Given the description of an element on the screen output the (x, y) to click on. 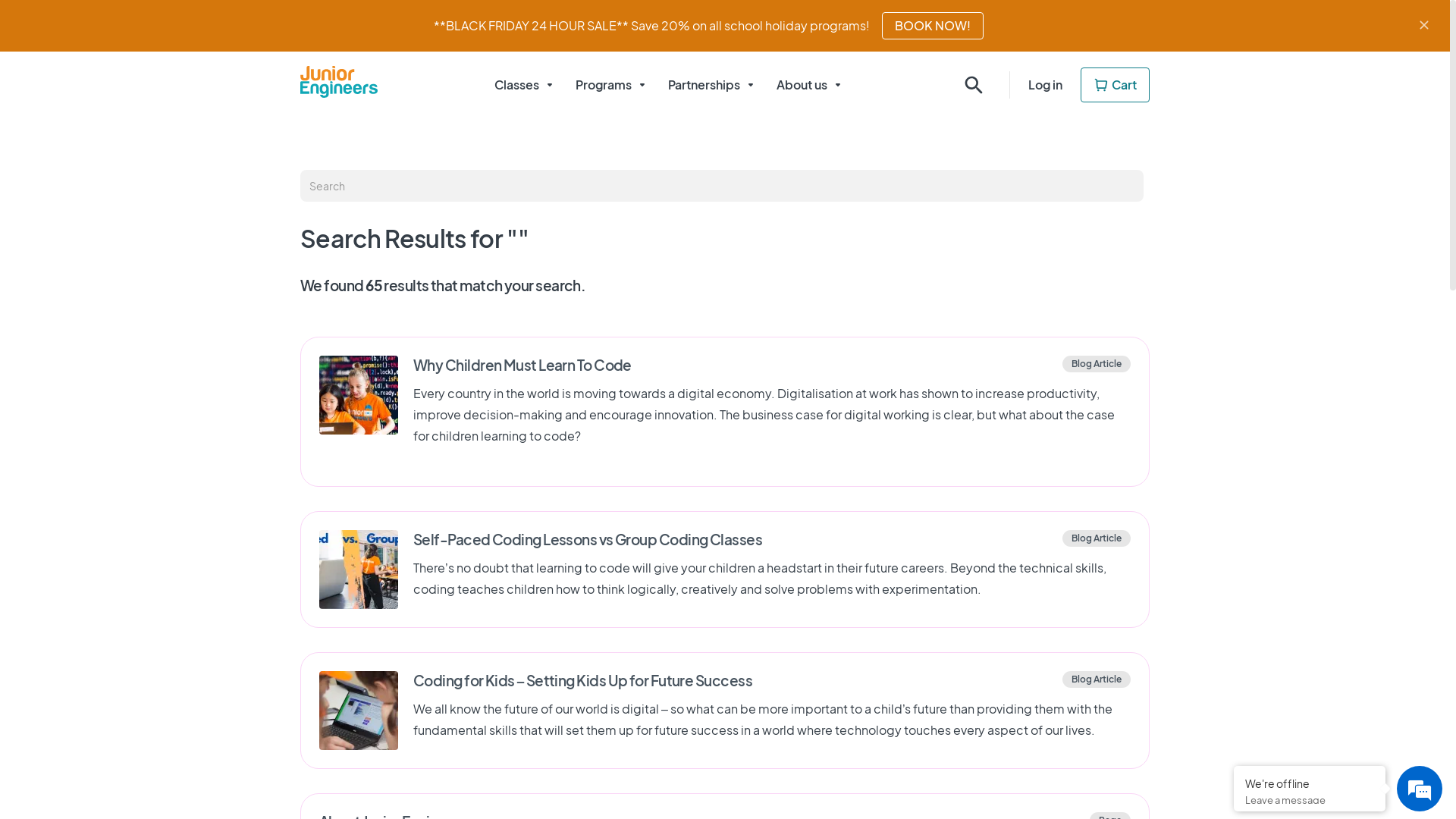
Skip to main content Element type: text (0, 0)
Cart Element type: text (1114, 84)
Classes Element type: text (525, 84)
About us Element type: text (810, 84)
BOOK NOW! Element type: text (931, 25)
Apply Element type: text (30, 13)
Log in Element type: text (1045, 84)
